Given the description of an element on the screen output the (x, y) to click on. 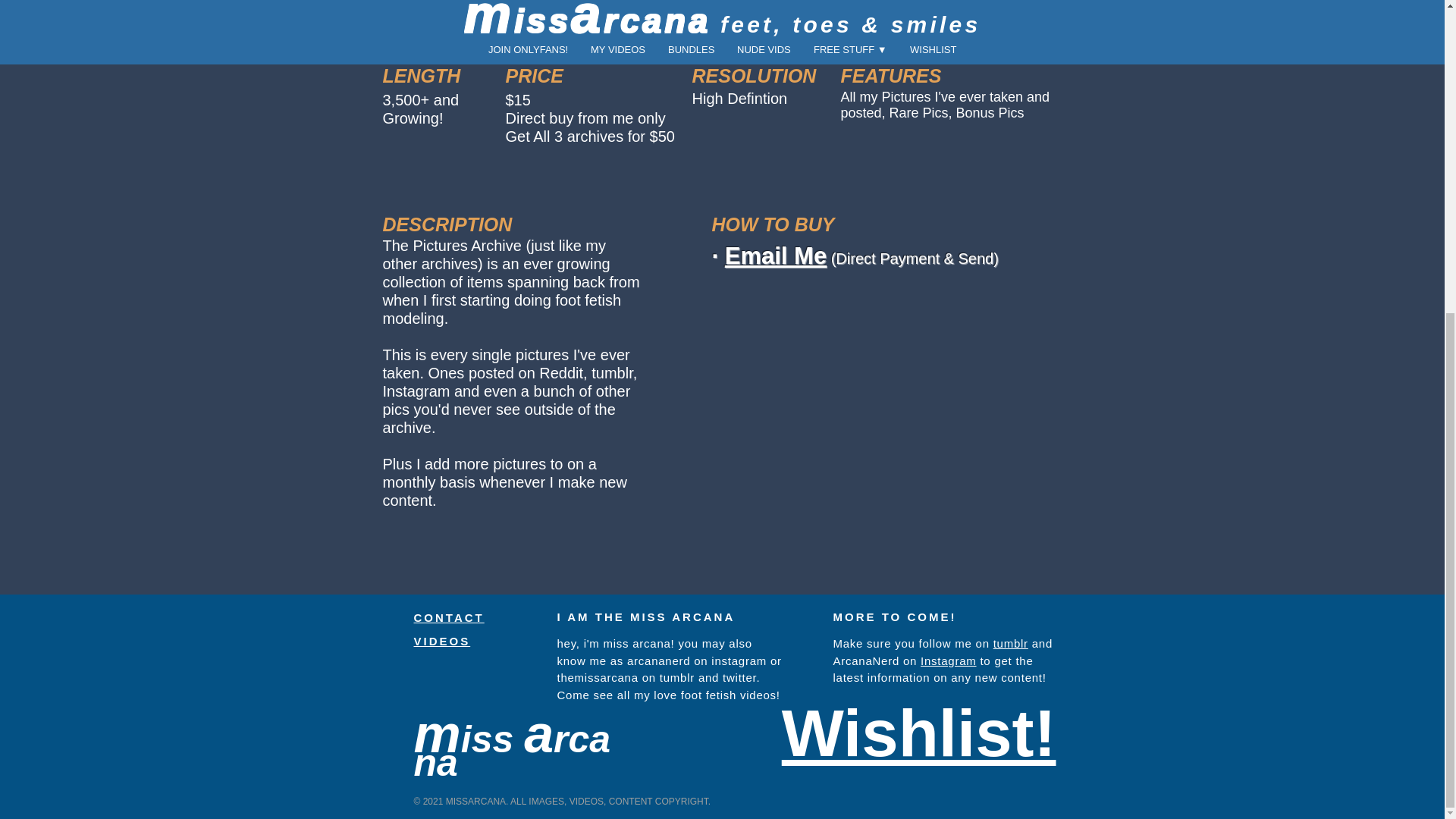
Instagram (947, 660)
tumblr (1009, 643)
Wishlist! (919, 732)
Email Me (776, 255)
VIDEOS (441, 640)
CONTACT (448, 617)
miss arcana (512, 756)
